Given the description of an element on the screen output the (x, y) to click on. 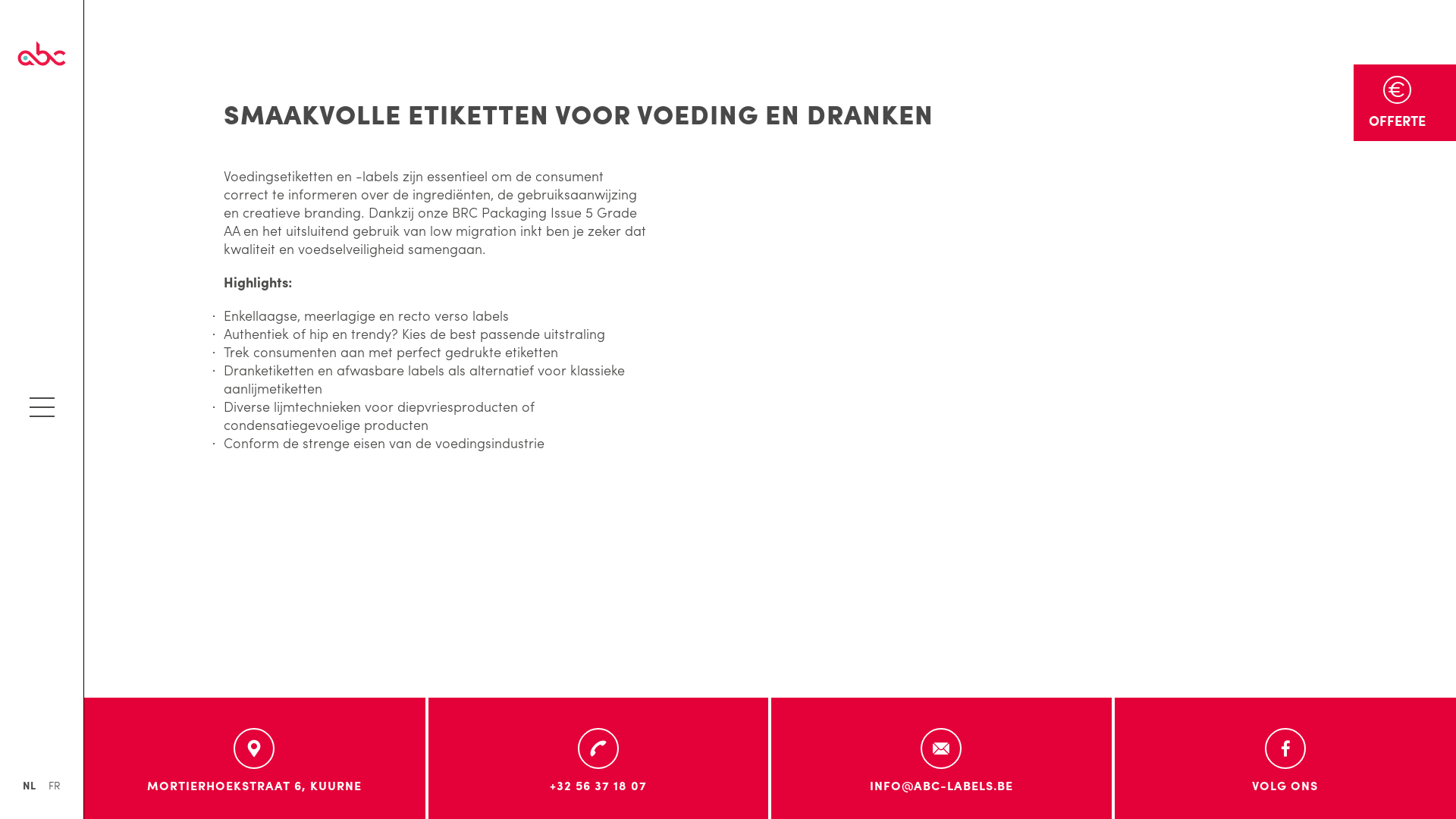
Overslaan en naar de inhoud gaan Element type: text (109, 0)
FR Element type: text (54, 784)
NL Element type: text (29, 784)
